Given the description of an element on the screen output the (x, y) to click on. 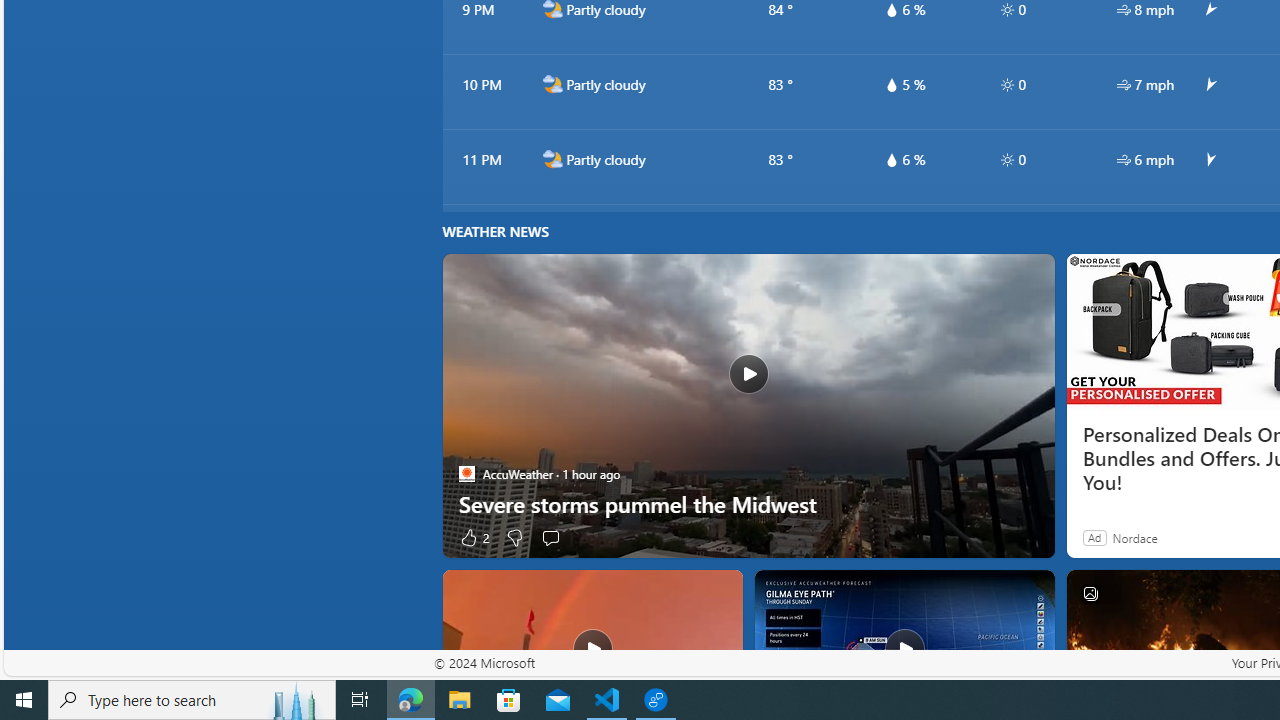
Severe storms pummel the Midwest (747, 406)
Severe storms pummel the Midwest (748, 503)
hourlyTable/uv (1007, 159)
Start the conversation (550, 537)
hourlyTable/wind (1123, 159)
Start the conversation (550, 537)
n2000 (552, 159)
Ad (1094, 537)
AccuWeather (466, 473)
2 Like (473, 537)
See more (1030, 593)
Dislike (514, 537)
